Given the description of an element on the screen output the (x, y) to click on. 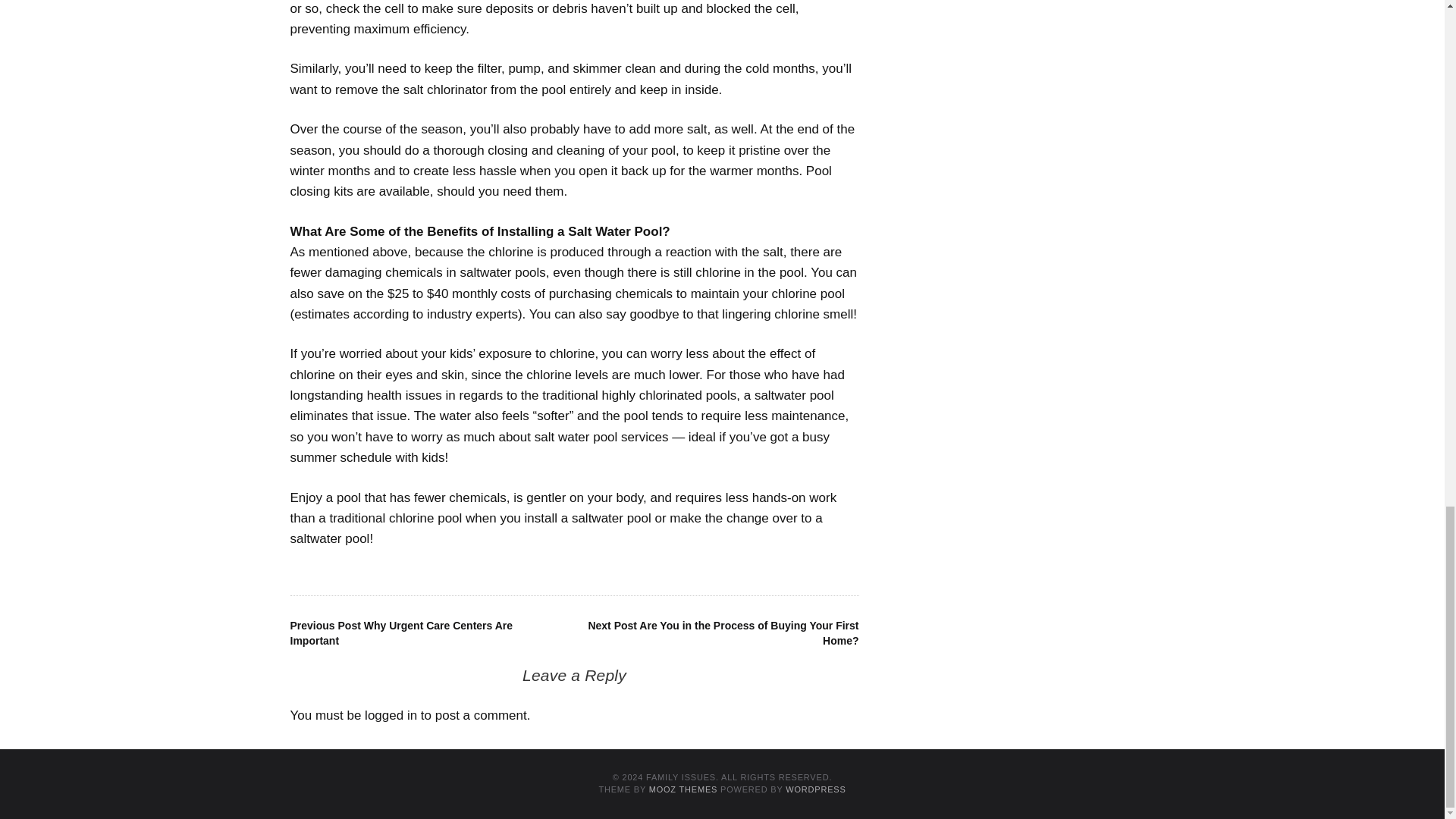
Next Post Are You in the Process of Buying Your First Home? (723, 633)
Previous Post Why Urgent Care Centers Are Important (400, 633)
logged in (390, 715)
MOOZ THEMES (683, 788)
WORDPRESS (815, 788)
